Given the description of an element on the screen output the (x, y) to click on. 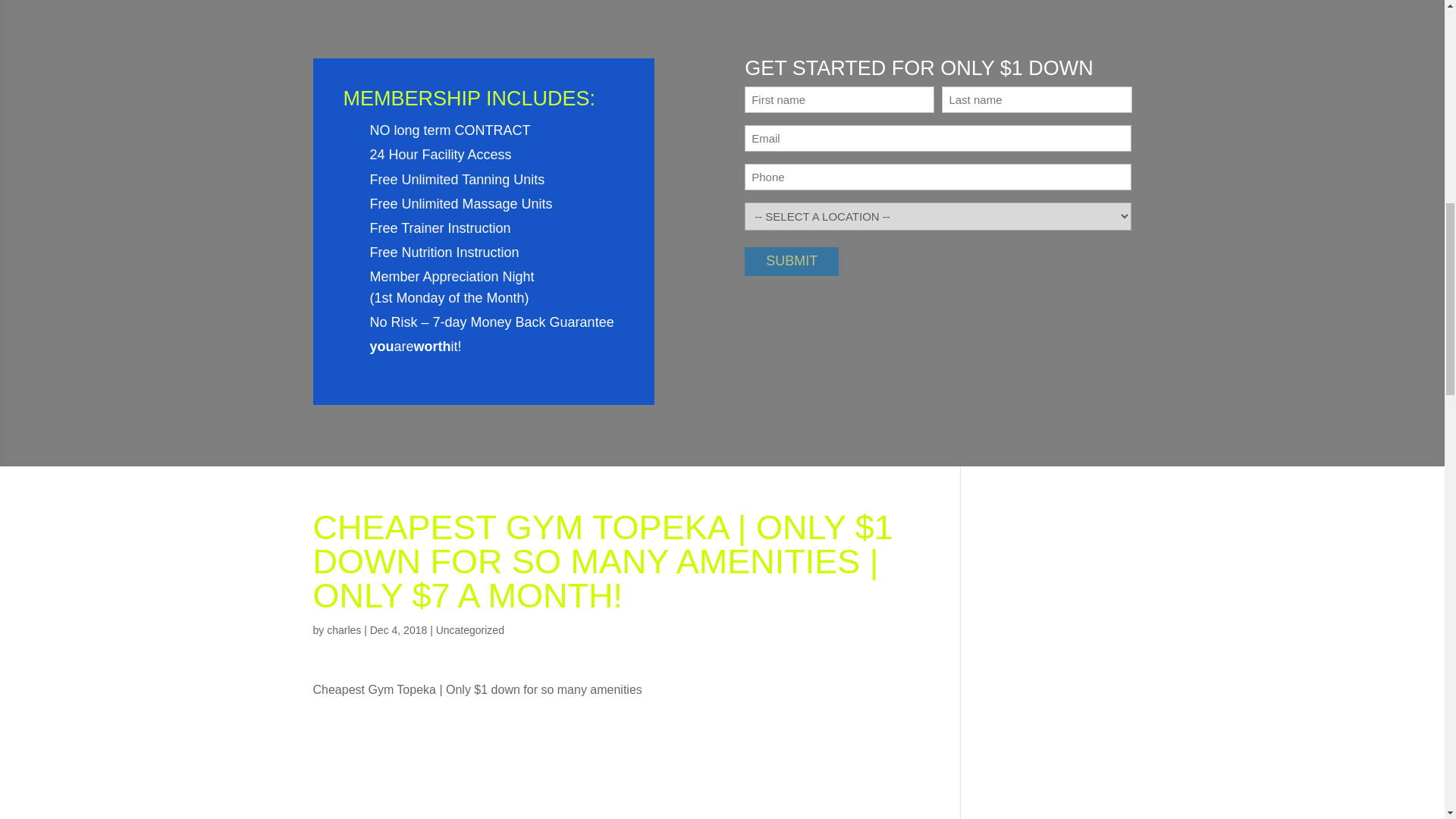
Posts by charles (343, 630)
charles (343, 630)
Submit (791, 261)
Submit (791, 261)
